Given the description of an element on the screen output the (x, y) to click on. 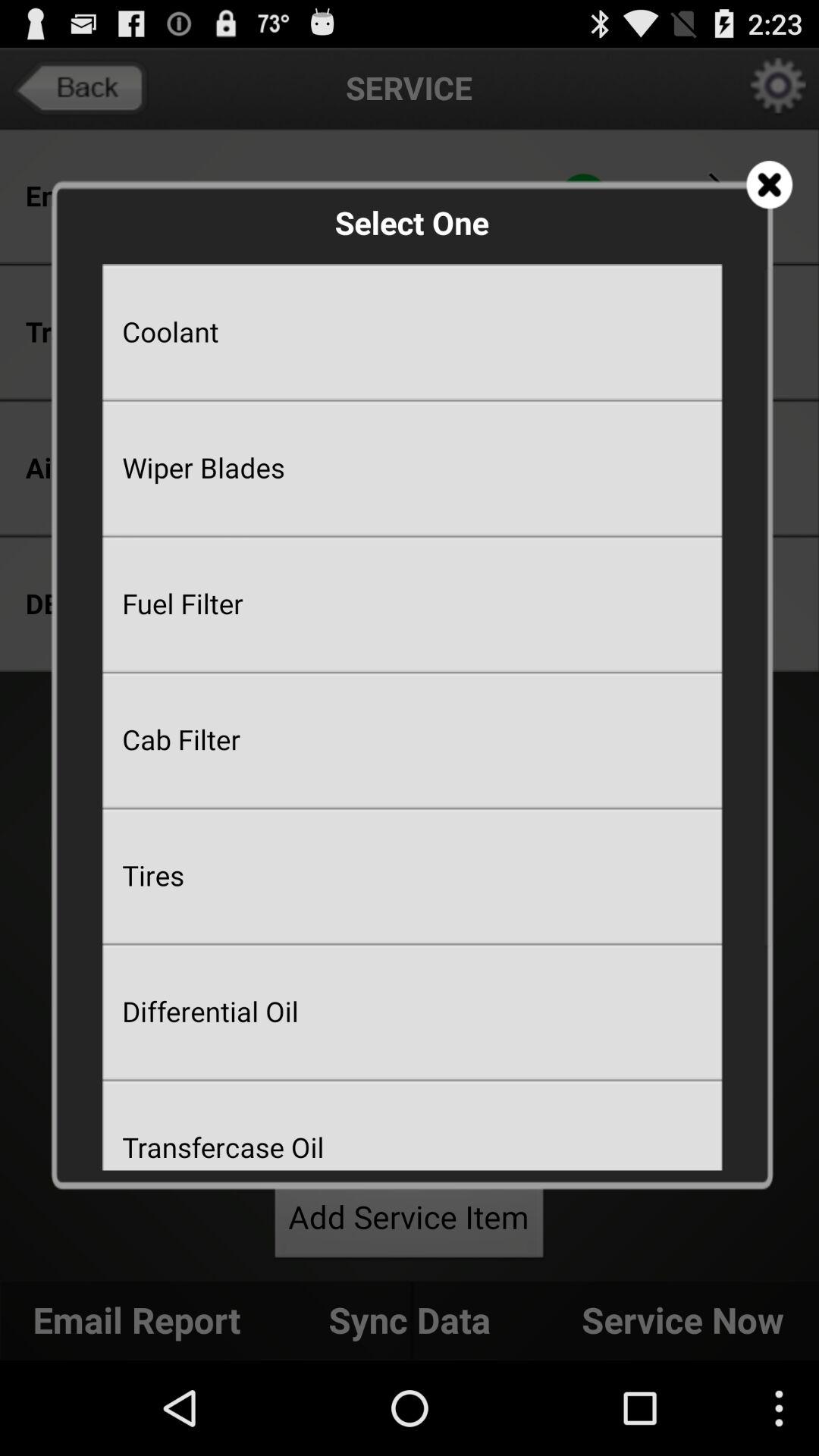
close (769, 184)
